Given the description of an element on the screen output the (x, y) to click on. 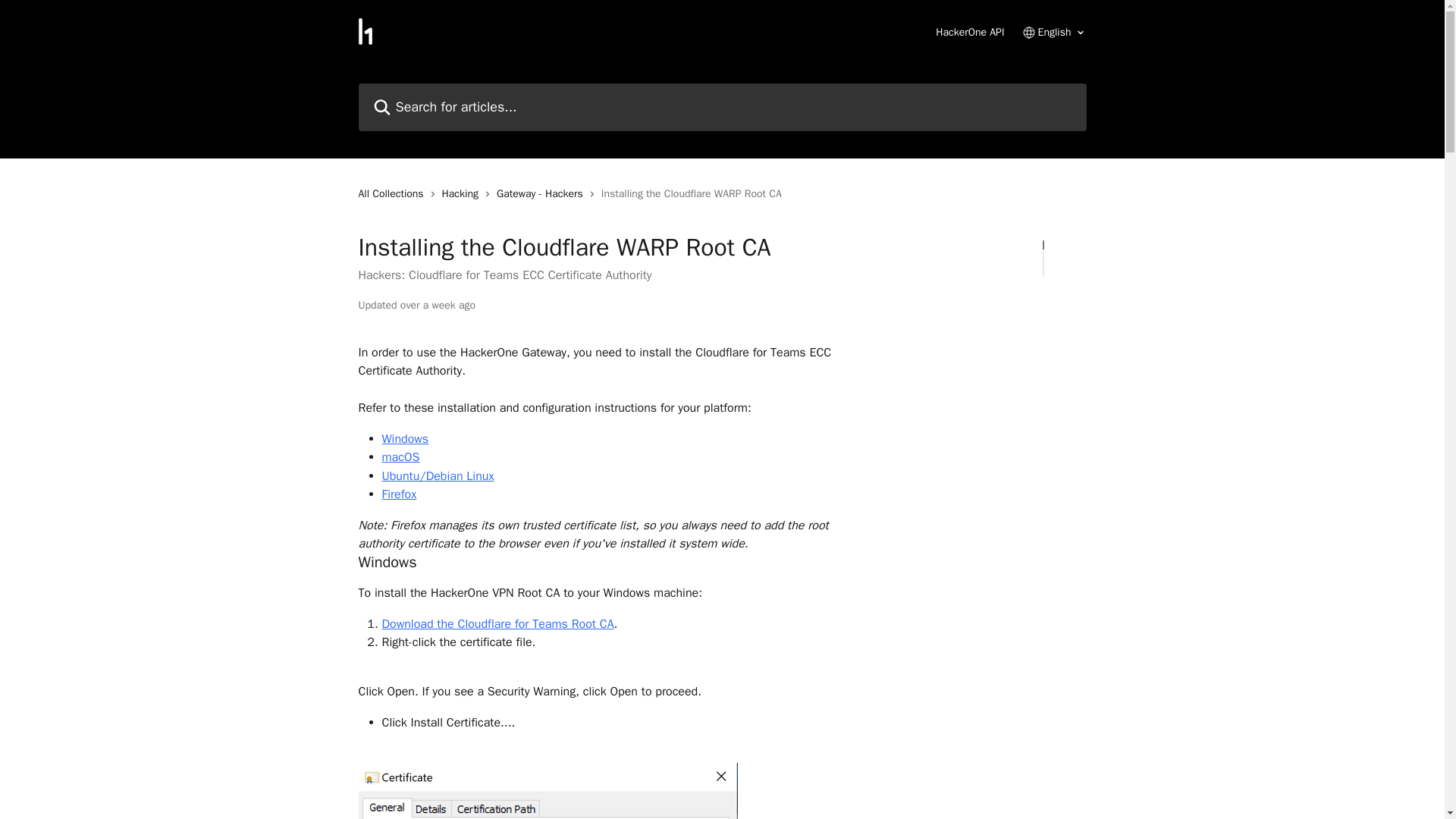
All Collections (393, 193)
Firefox (398, 494)
macOS (400, 457)
Hacking (463, 193)
Download the Cloudflare for Teams Root CA (497, 623)
HackerOne API (970, 32)
Gateway - Hackers (542, 193)
Windows (405, 438)
